Given the description of an element on the screen output the (x, y) to click on. 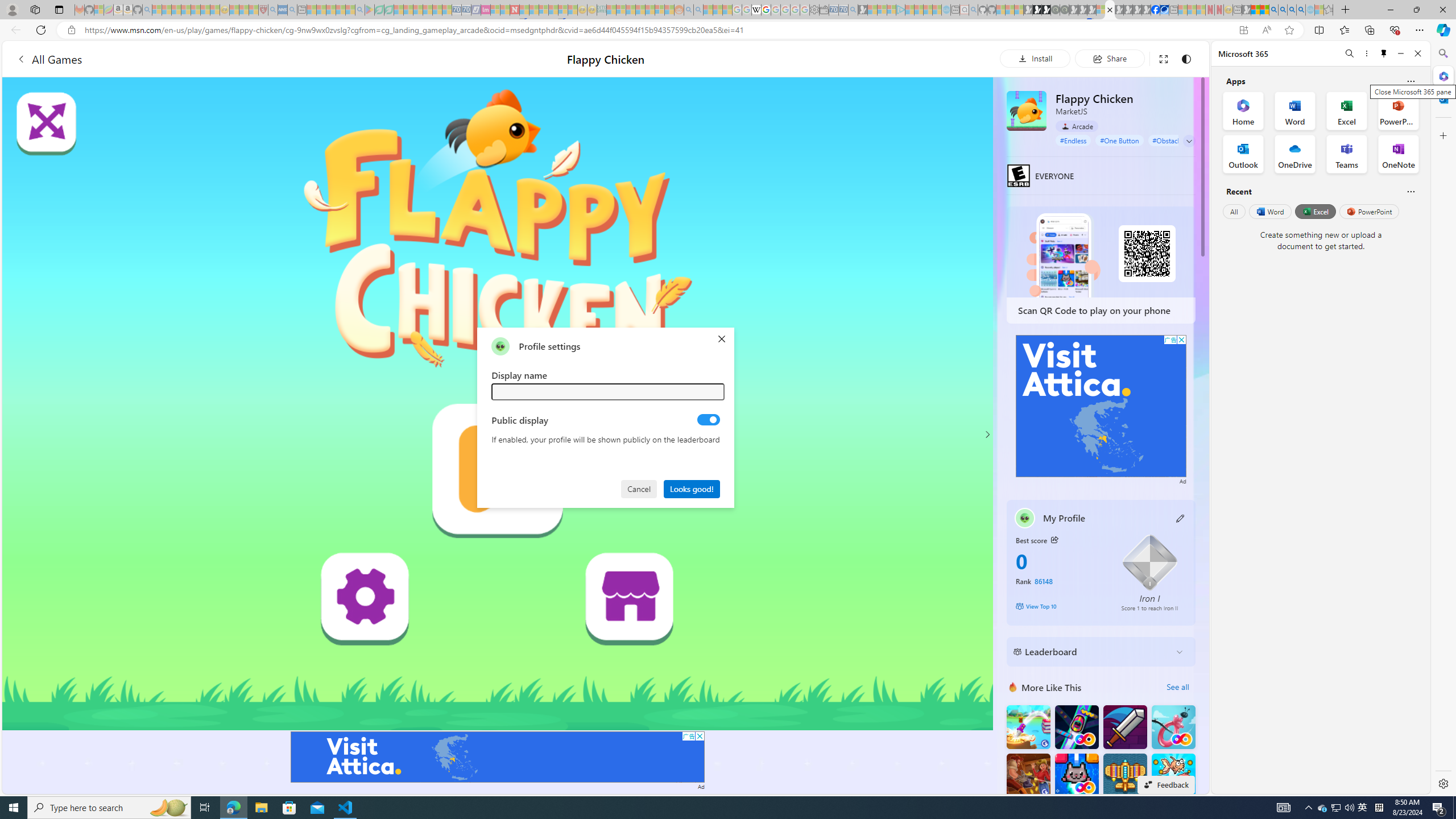
Sign in to your account - Sleeping (1100, 9)
All (1233, 210)
AutomationID: canvas (497, 403)
Kitten Force FRVR (1076, 775)
Arcade (1076, 126)
Favorites - Sleeping (1328, 9)
App available. Install Flappy Chicken (1243, 29)
Outlook Office App (1243, 154)
#One Button (1119, 140)
